Given the description of an element on the screen output the (x, y) to click on. 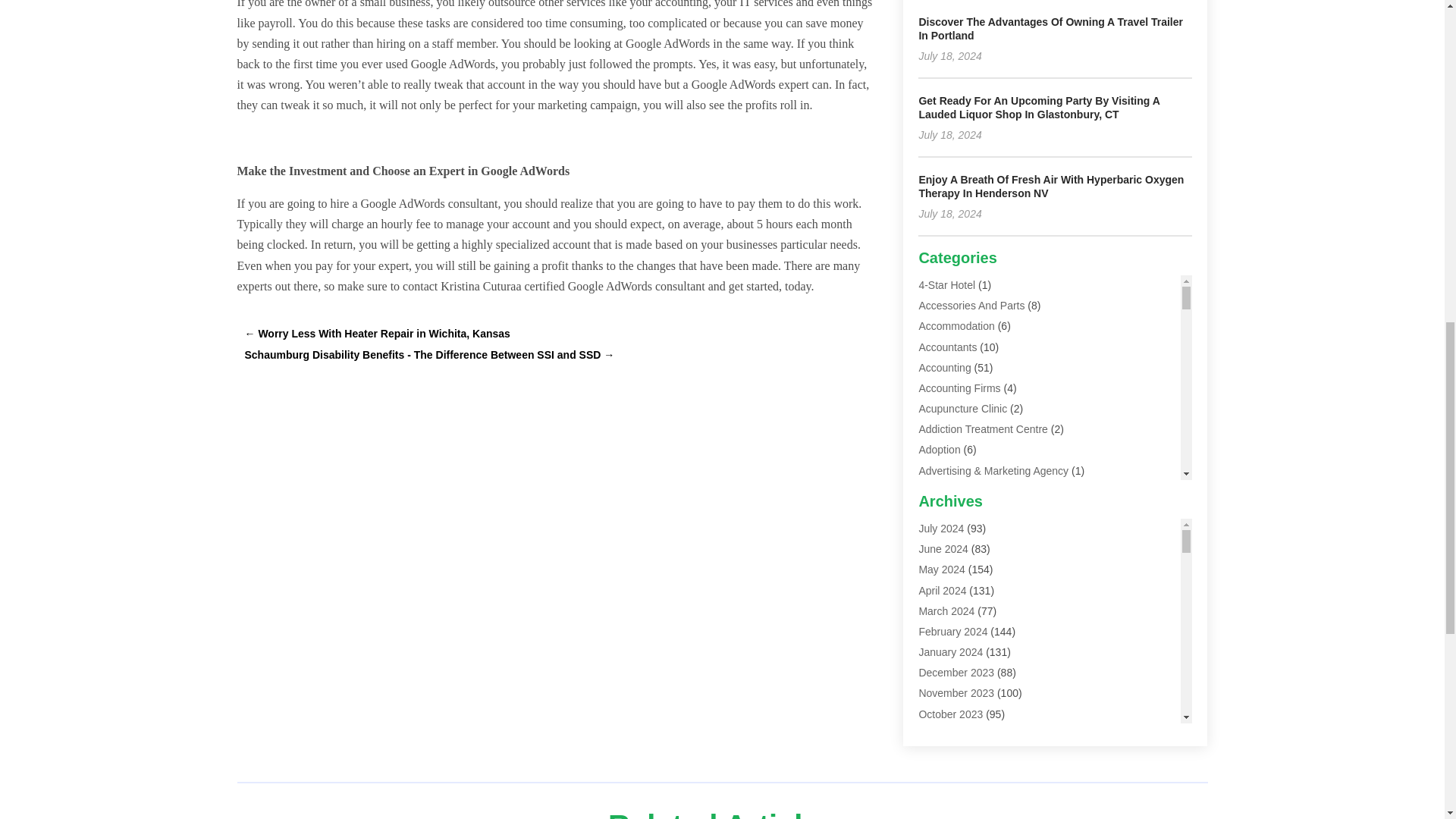
4-Star Hotel (946, 285)
Accounting (944, 367)
Agronomy (942, 552)
Acupuncture Clinic (962, 408)
Accounting Firms (959, 387)
Air Compressors (957, 573)
Accessories And Parts (971, 305)
Accommodation (956, 326)
Advertising Agency (963, 491)
Accountants (947, 346)
Addiction Treatment Centre (982, 428)
Agricultural Service (964, 511)
Adoption (938, 449)
